Given the description of an element on the screen output the (x, y) to click on. 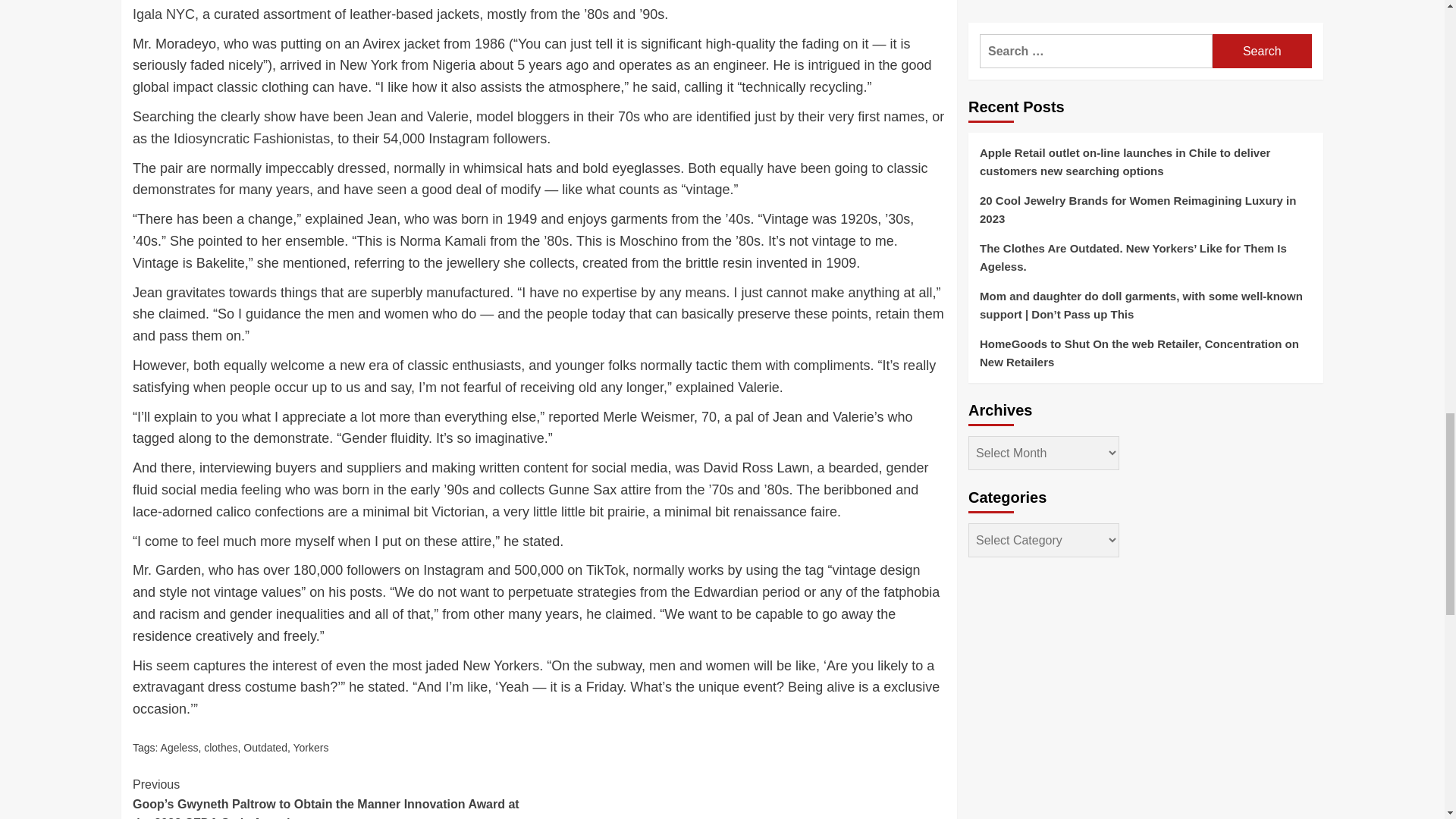
feeling (261, 489)
Ageless (179, 747)
the Igala NYC (525, 11)
Yorkers (310, 747)
clothes (220, 747)
Idiosyncratic Fashionistas (251, 138)
Outdated (264, 747)
